Given the description of an element on the screen output the (x, y) to click on. 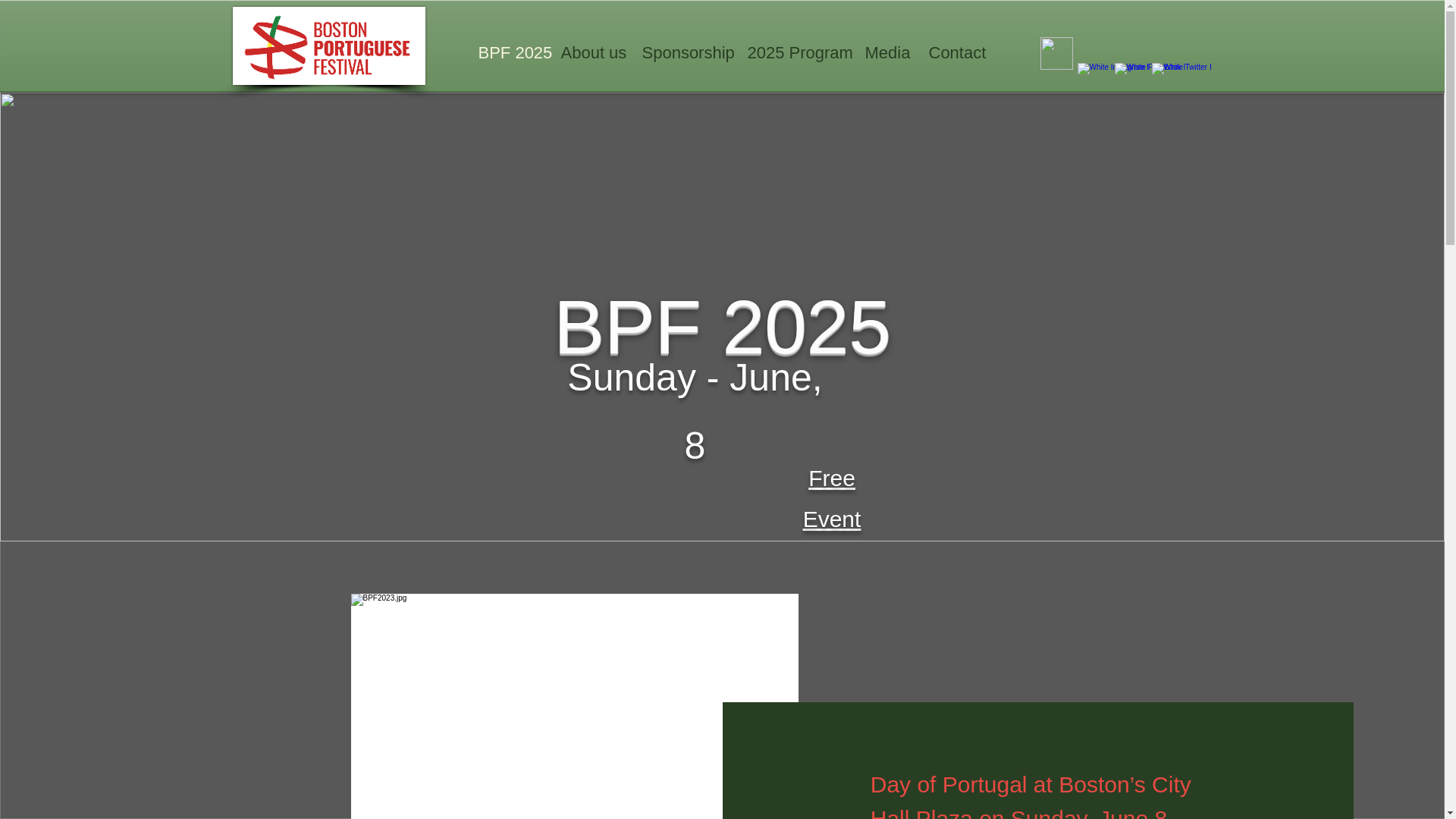
Media (885, 53)
BPF 2025 (508, 53)
About us (589, 53)
Contact (954, 53)
2025 Program (794, 53)
Sponsorship (683, 53)
